Given the description of an element on the screen output the (x, y) to click on. 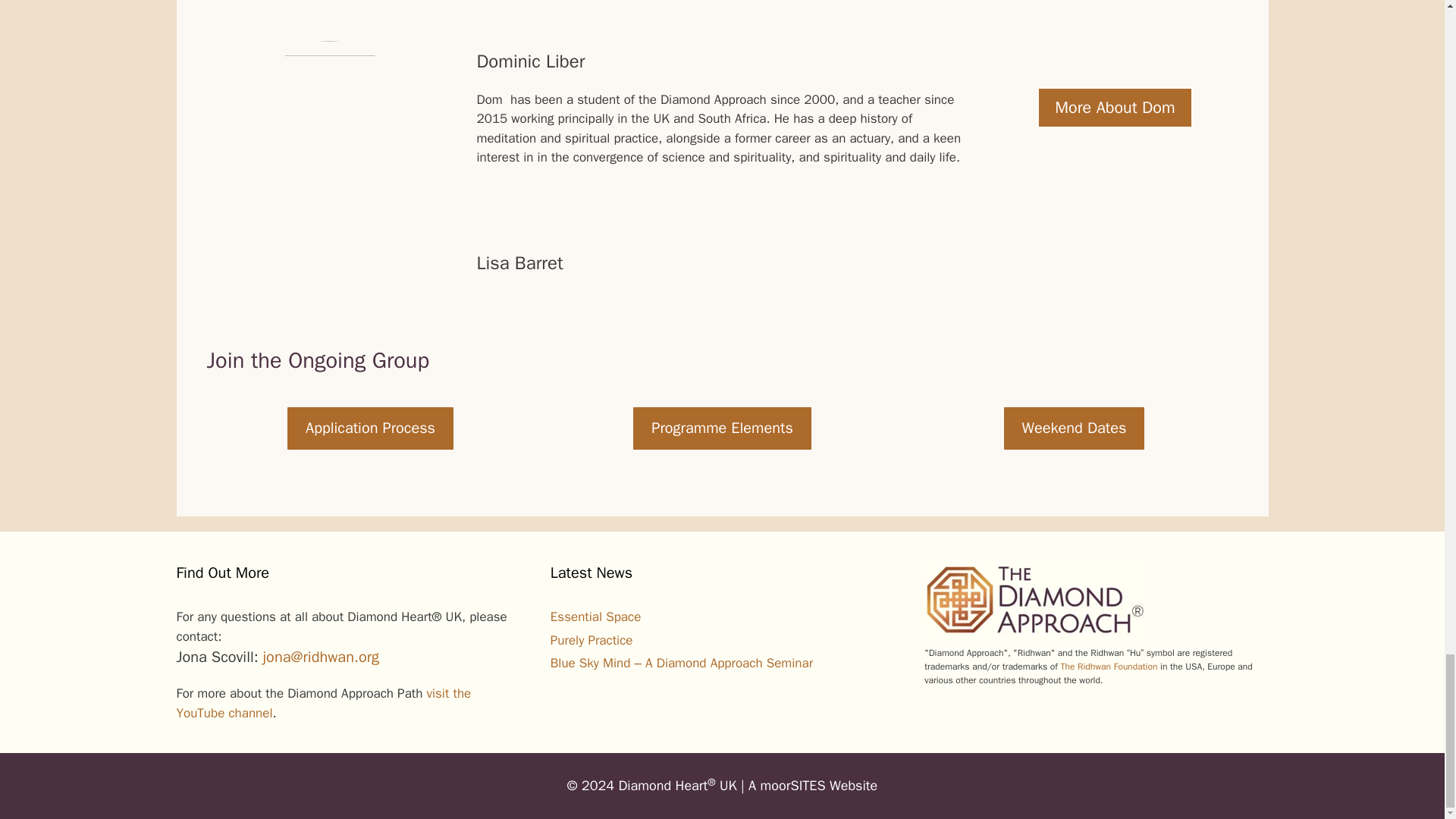
More About Dom (1115, 107)
